Given the description of an element on the screen output the (x, y) to click on. 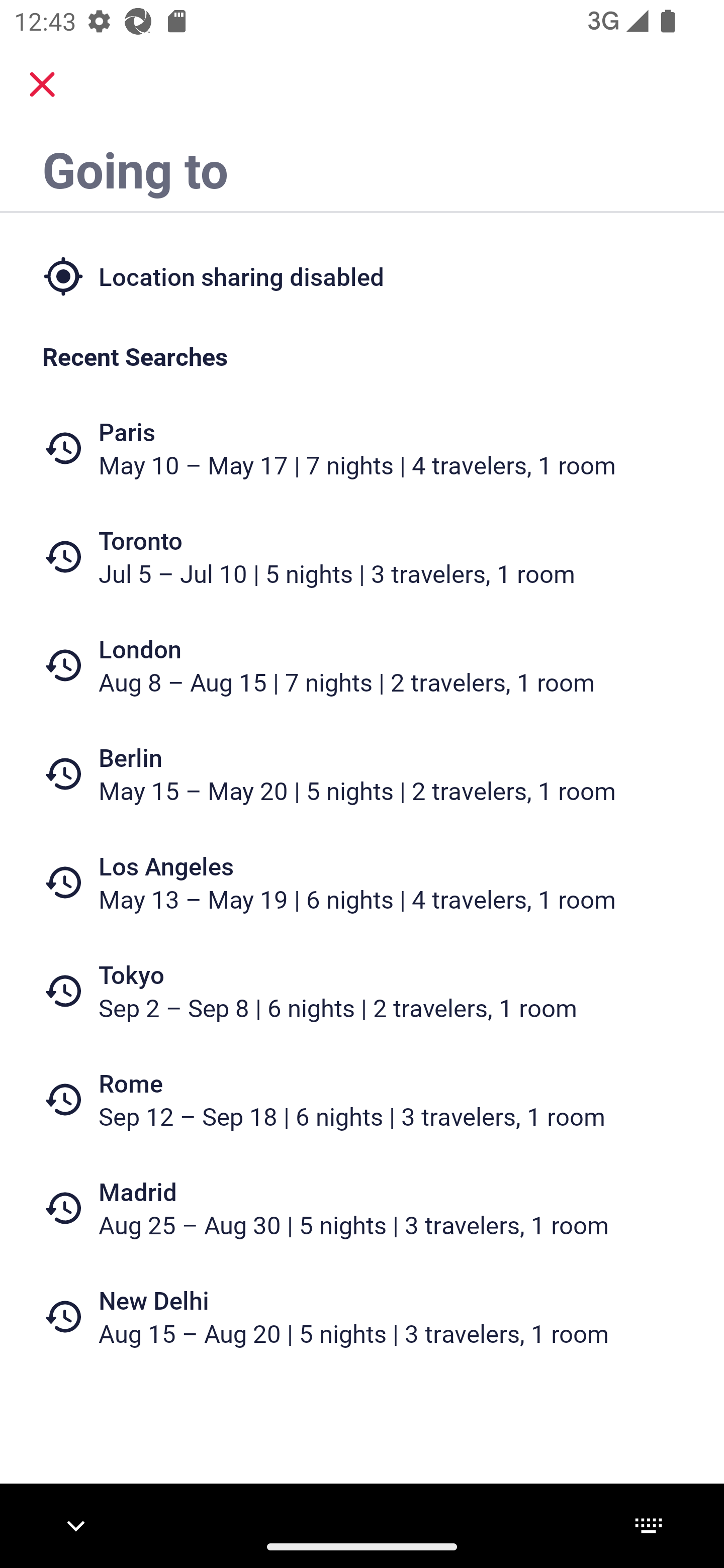
close. (42, 84)
Location sharing disabled (362, 275)
